Given the description of an element on the screen output the (x, y) to click on. 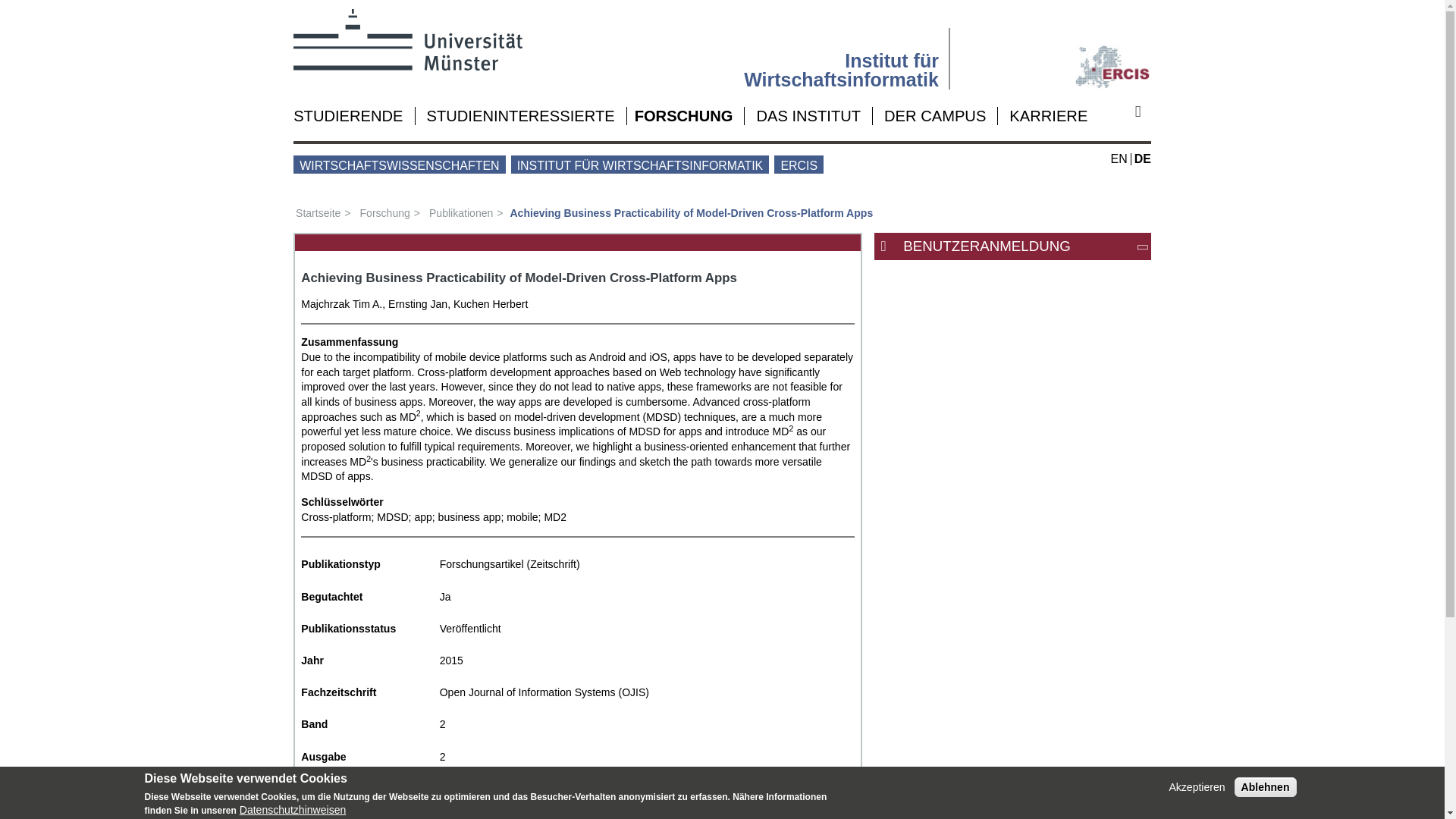
EN (1118, 158)
Publikationen (466, 213)
WIRTSCHAFTSWISSENSCHAFTEN (399, 164)
STUDIENINTERESSIERTE (520, 115)
BENUTZERANMELDUNG (1021, 246)
Suche (1143, 111)
ERCIS (799, 164)
English (1118, 158)
STUDIERENDE (348, 115)
ERCIS (1055, 58)
FORSCHUNG (683, 115)
DER CAMPUS (934, 115)
ERCIS (1055, 49)
DAS INSTITUT (807, 115)
KARRIERE (1048, 115)
